Given the description of an element on the screen output the (x, y) to click on. 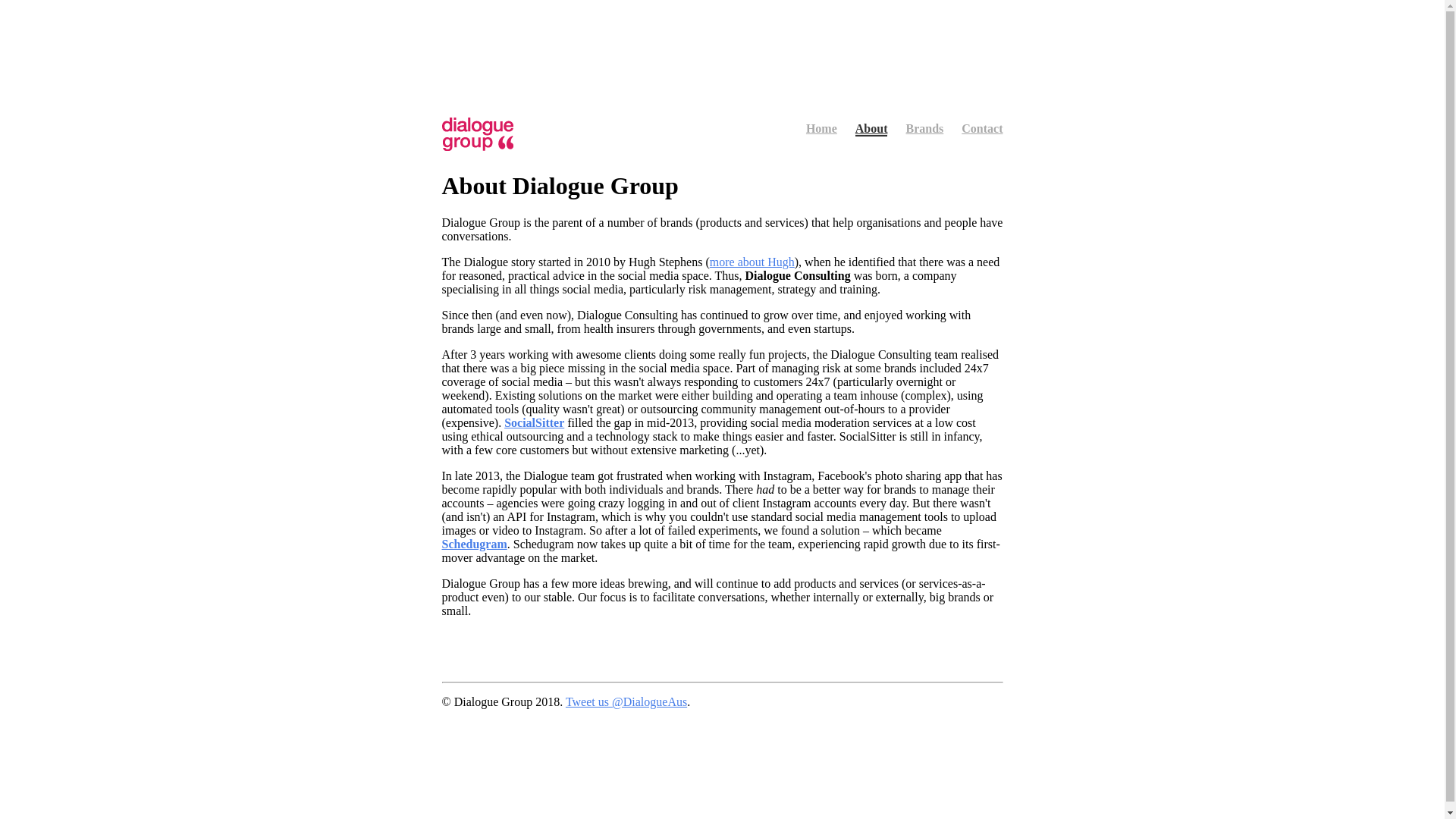
About Element type: text (871, 129)
Contact Element type: text (981, 129)
Tweet us @DialogueAus Element type: text (626, 701)
Brands Element type: text (924, 129)
Home Element type: text (821, 129)
Schedugram Element type: text (473, 543)
more about Hugh Element type: text (751, 261)
SocialSitter Element type: text (534, 422)
